Given the description of an element on the screen output the (x, y) to click on. 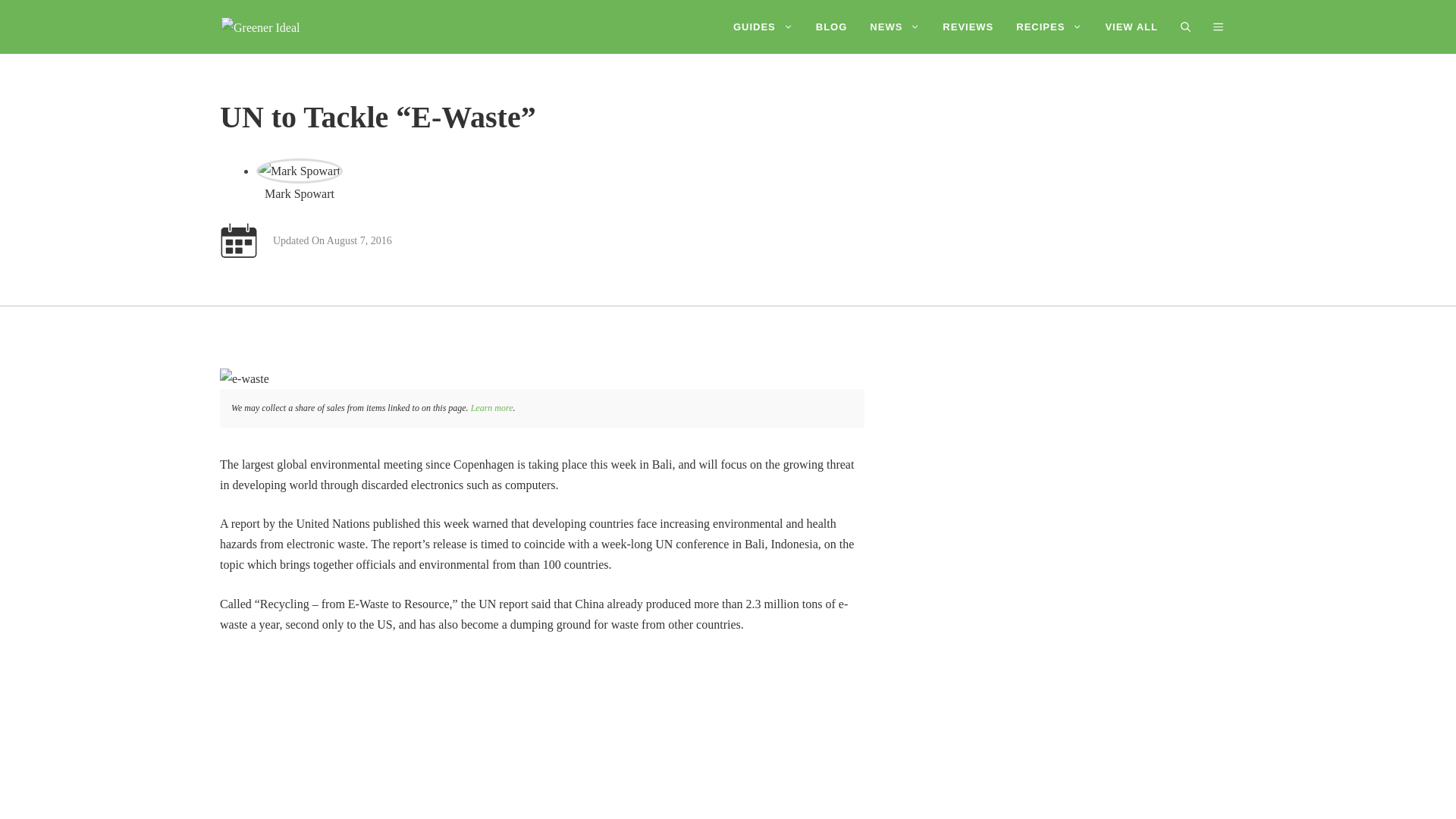
Mark Spowart (299, 193)
VIEW ALL (1131, 27)
BLOG (832, 27)
RECIPES (1048, 27)
Learn more (491, 407)
GUIDES (763, 27)
REVIEWS (967, 27)
Mark Spowart (299, 193)
Mark Spowart (299, 170)
NEWS (895, 27)
